Given the description of an element on the screen output the (x, y) to click on. 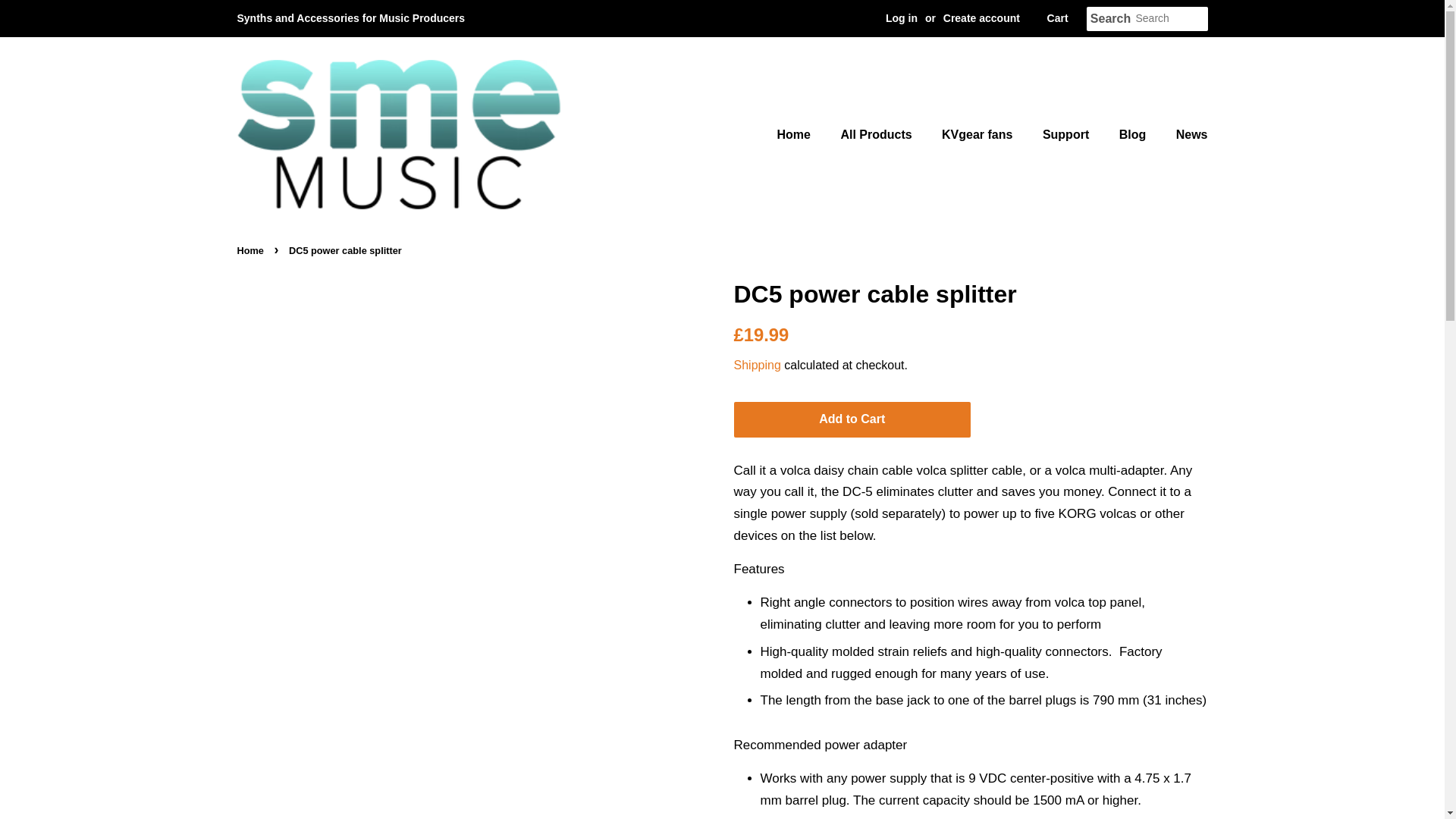
Search (1097, 18)
Blog (1134, 133)
Add to Cart (852, 419)
Shopify online store chat (1404, 781)
Create account (975, 18)
Shipping (756, 364)
News (1186, 133)
Back to the frontpage (250, 250)
Support (1066, 133)
Home (250, 250)
